Given the description of an element on the screen output the (x, y) to click on. 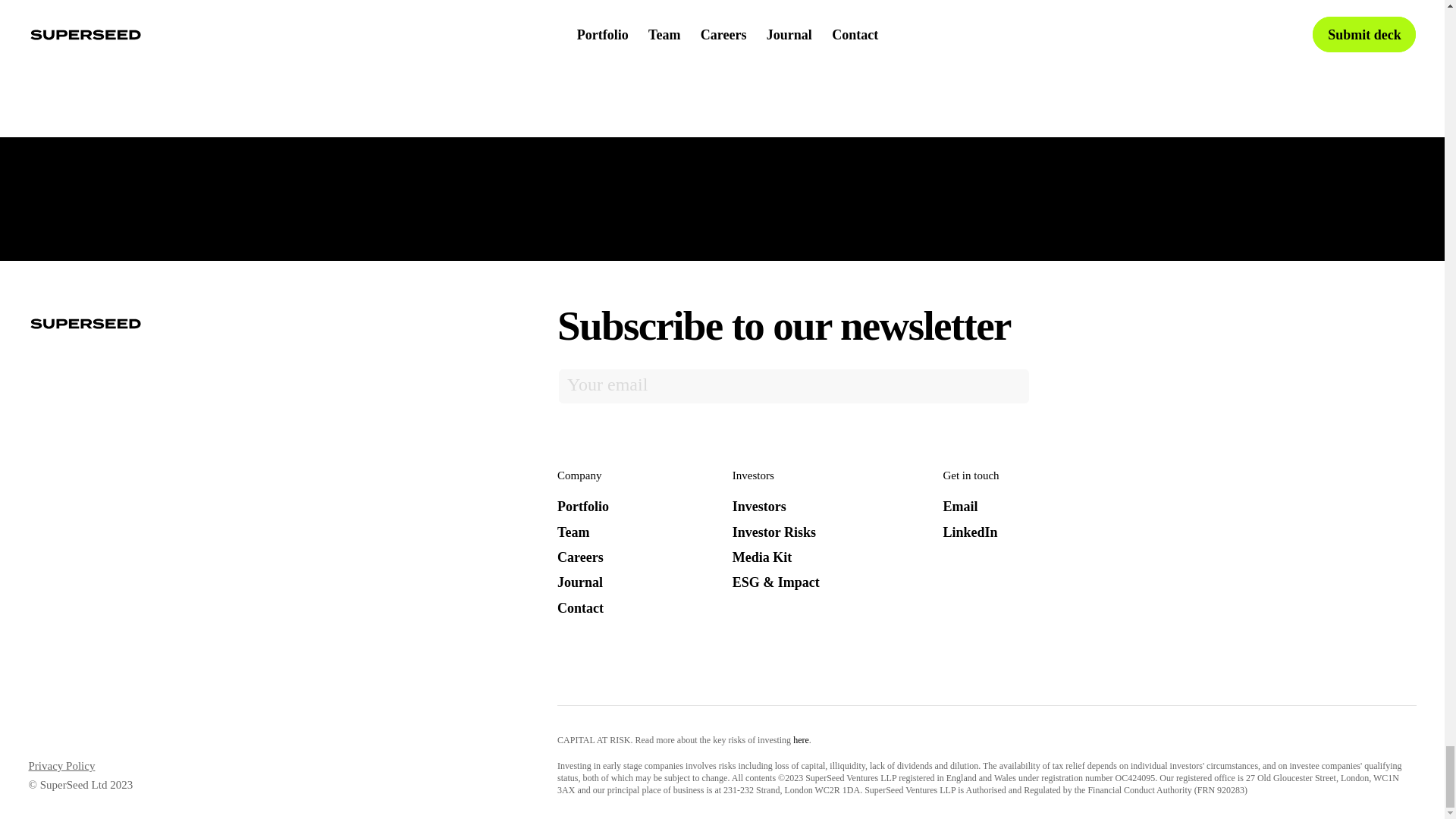
here (801, 739)
LinkedIn (969, 531)
Investor Risks (773, 531)
Media Kit (762, 557)
Investors (759, 506)
Journal (579, 581)
Contact (580, 608)
Careers (580, 557)
Team (573, 531)
Portfolio (582, 506)
Email (959, 506)
Privacy Policy (710, 23)
